Given the description of an element on the screen output the (x, y) to click on. 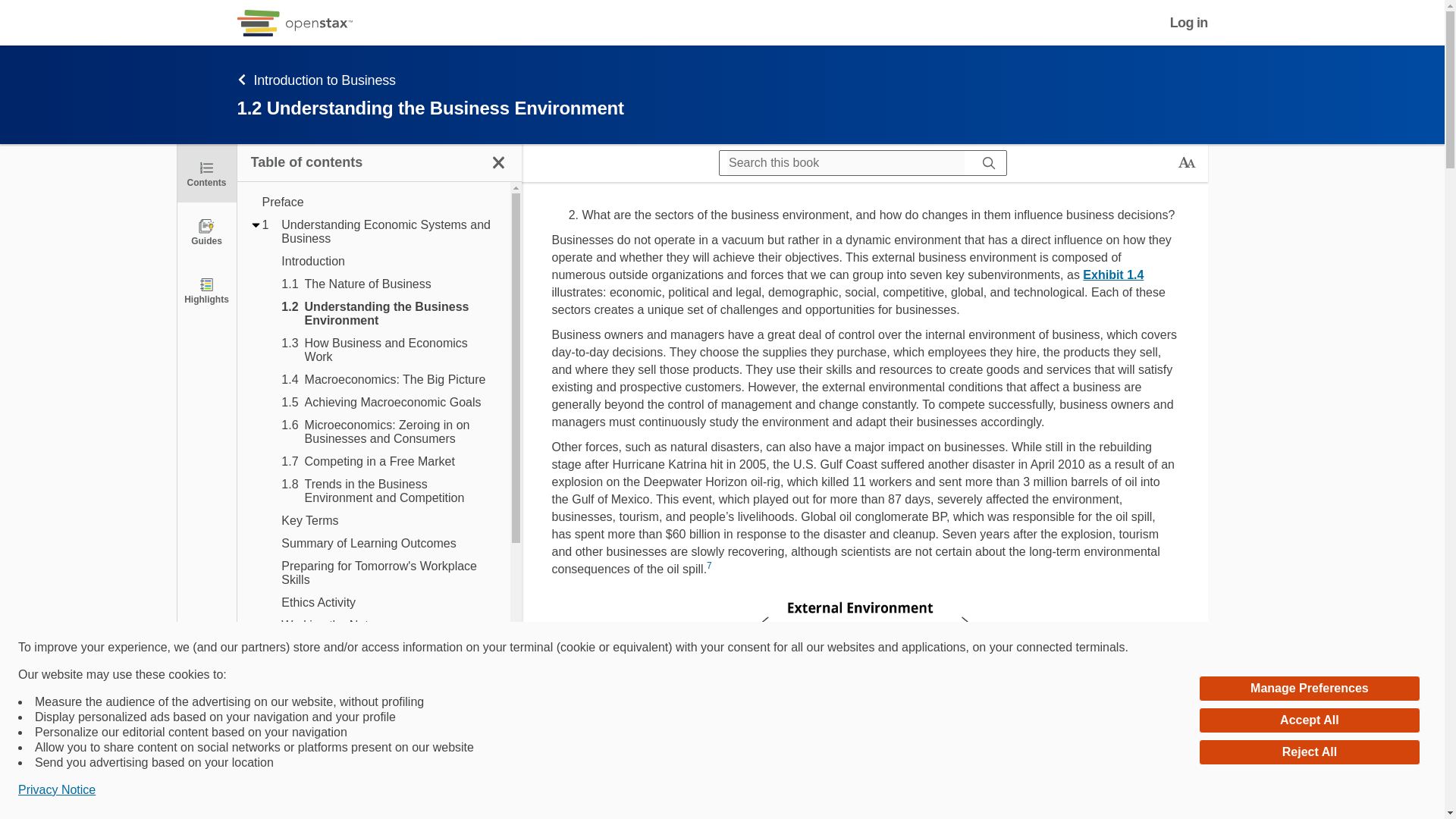
Contents (388, 379)
Reject All (388, 431)
Preparing for Tomorrow's Workplace Skills (388, 491)
Log in (206, 173)
Highlights (1309, 751)
Accept All (388, 573)
